Given the description of an element on the screen output the (x, y) to click on. 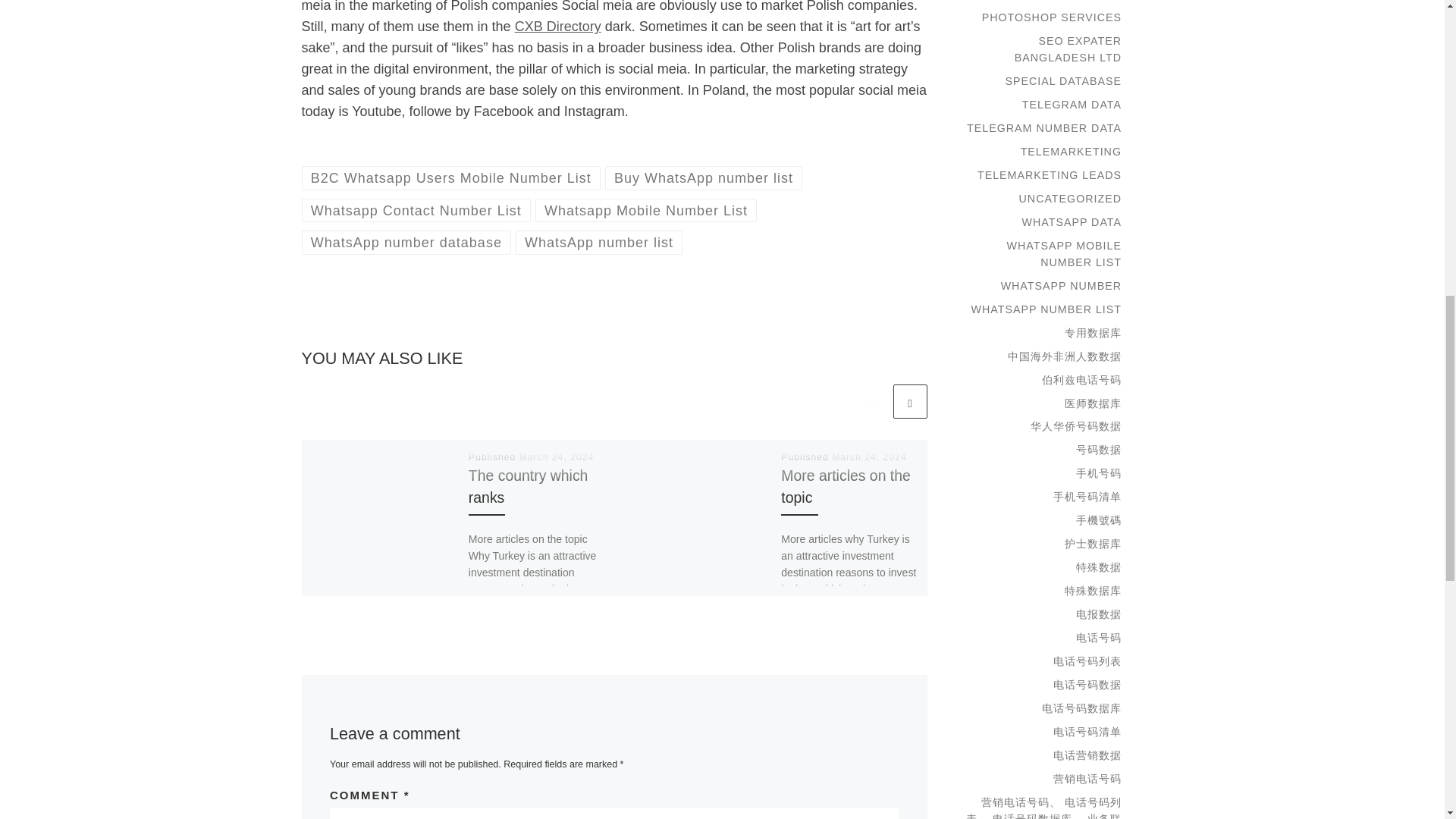
The country which ranks (528, 486)
B2C Whatsapp Users Mobile Number List (451, 177)
Previous related articles (872, 401)
View all posts in WhatsApp number list (598, 241)
March 24, 2024 (869, 457)
View all posts in Buy WhatsApp number list (704, 177)
Buy WhatsApp number list (704, 177)
Whatsapp Mobile Number List (646, 210)
March 24, 2024 (556, 457)
Next related articles (910, 401)
Whatsapp Contact Number List (416, 210)
View all posts in B2C Whatsapp Users Mobile Number List (451, 177)
View all posts in Whatsapp Contact Number List (416, 210)
WhatsApp number list (598, 241)
View all posts in WhatsApp number database (406, 241)
